Given the description of an element on the screen output the (x, y) to click on. 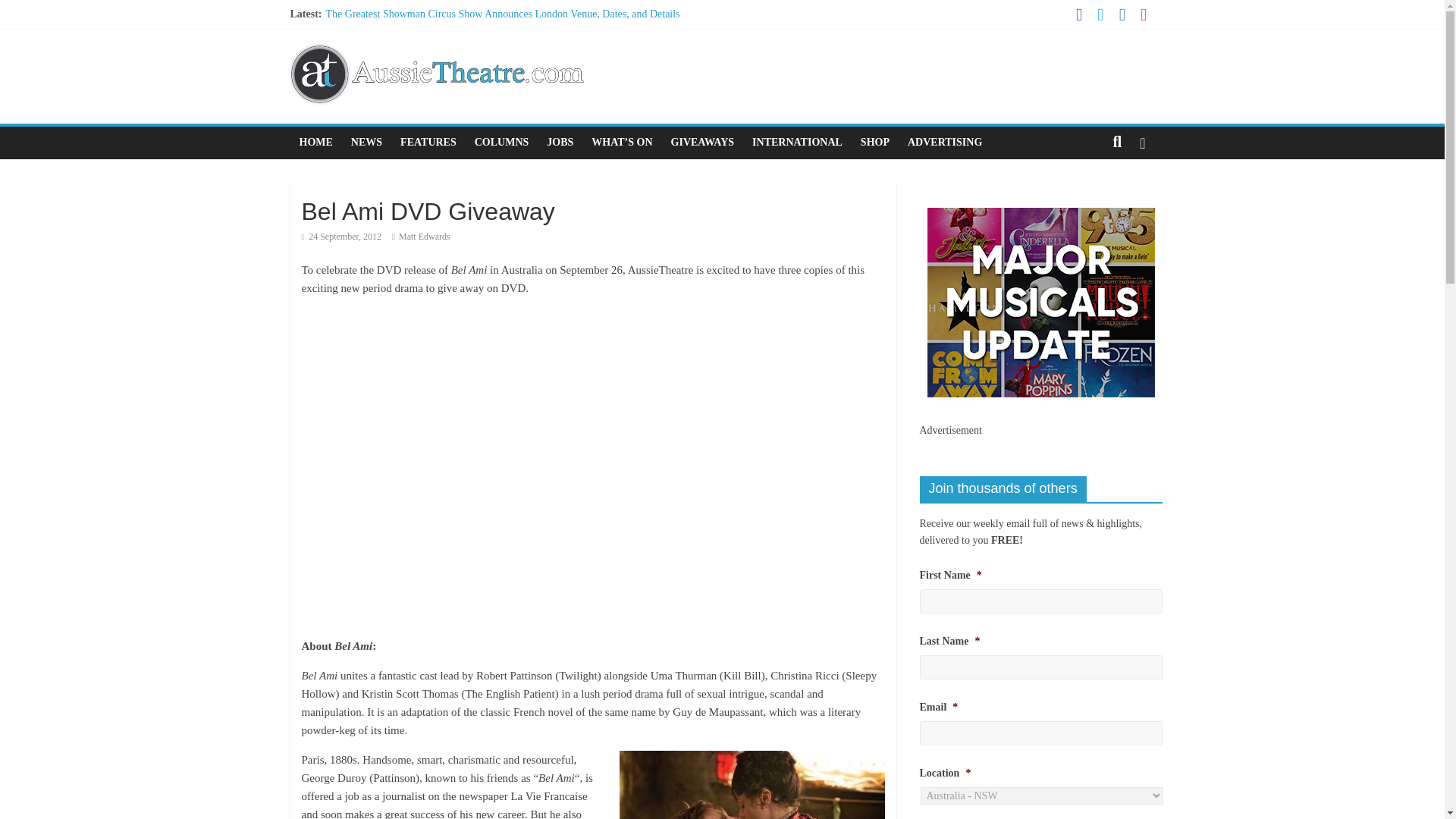
SHOP (874, 142)
Matt Edwards (423, 235)
JOBS (559, 142)
COLUMNS (501, 142)
HOME (314, 142)
Page 1 (593, 785)
24 September, 2012 (341, 235)
FEATURES (428, 142)
Matt Edwards (423, 235)
Bel Ami (752, 785)
8:19 am (341, 235)
ADVERTISING (944, 142)
INTERNATIONAL (796, 142)
